Given the description of an element on the screen output the (x, y) to click on. 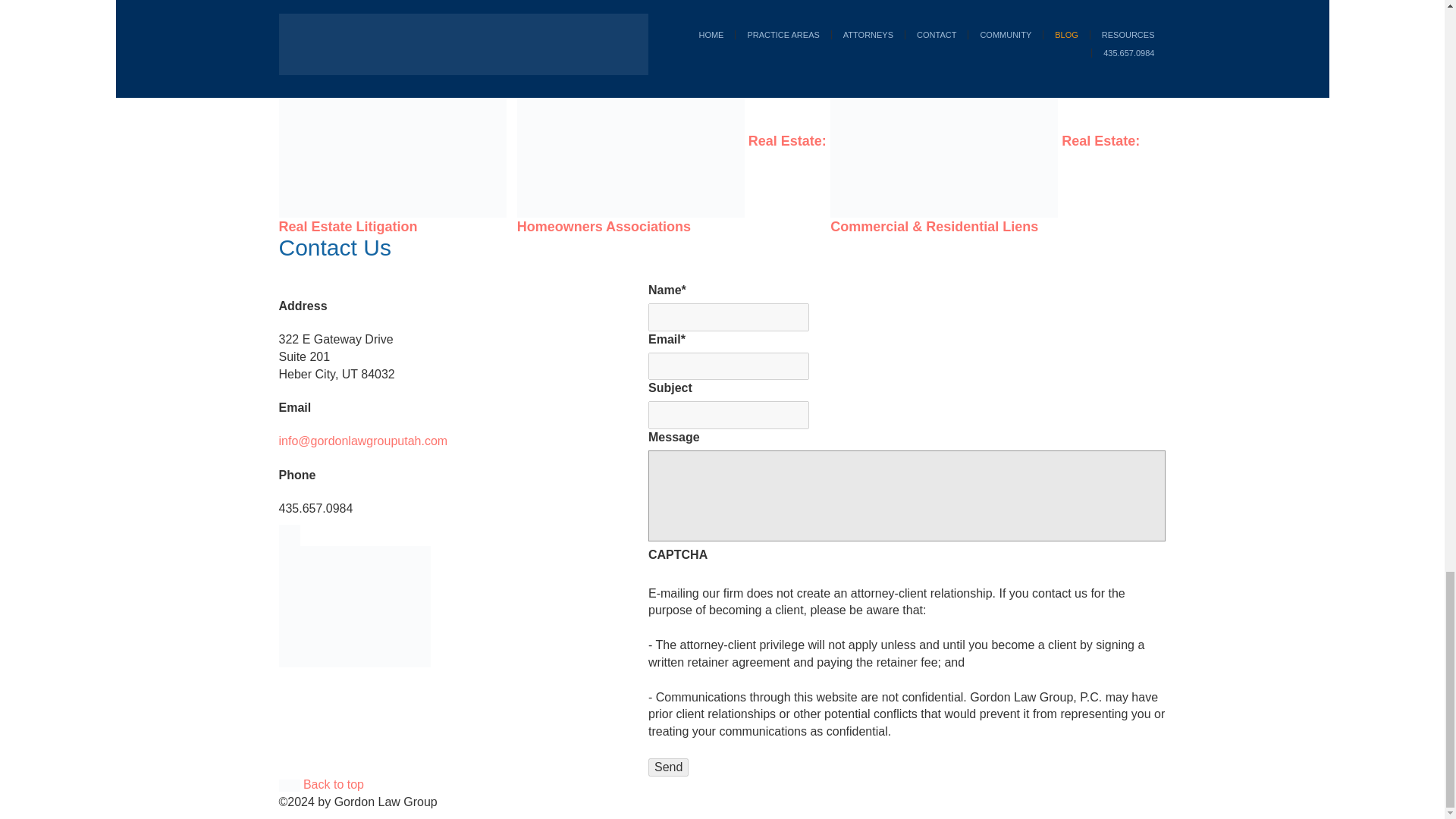
Send (667, 767)
Send (667, 767)
Real Estate: Homeowners Associations (671, 183)
Real Estate Litigation (348, 226)
Back to top (322, 784)
